Given the description of an element on the screen output the (x, y) to click on. 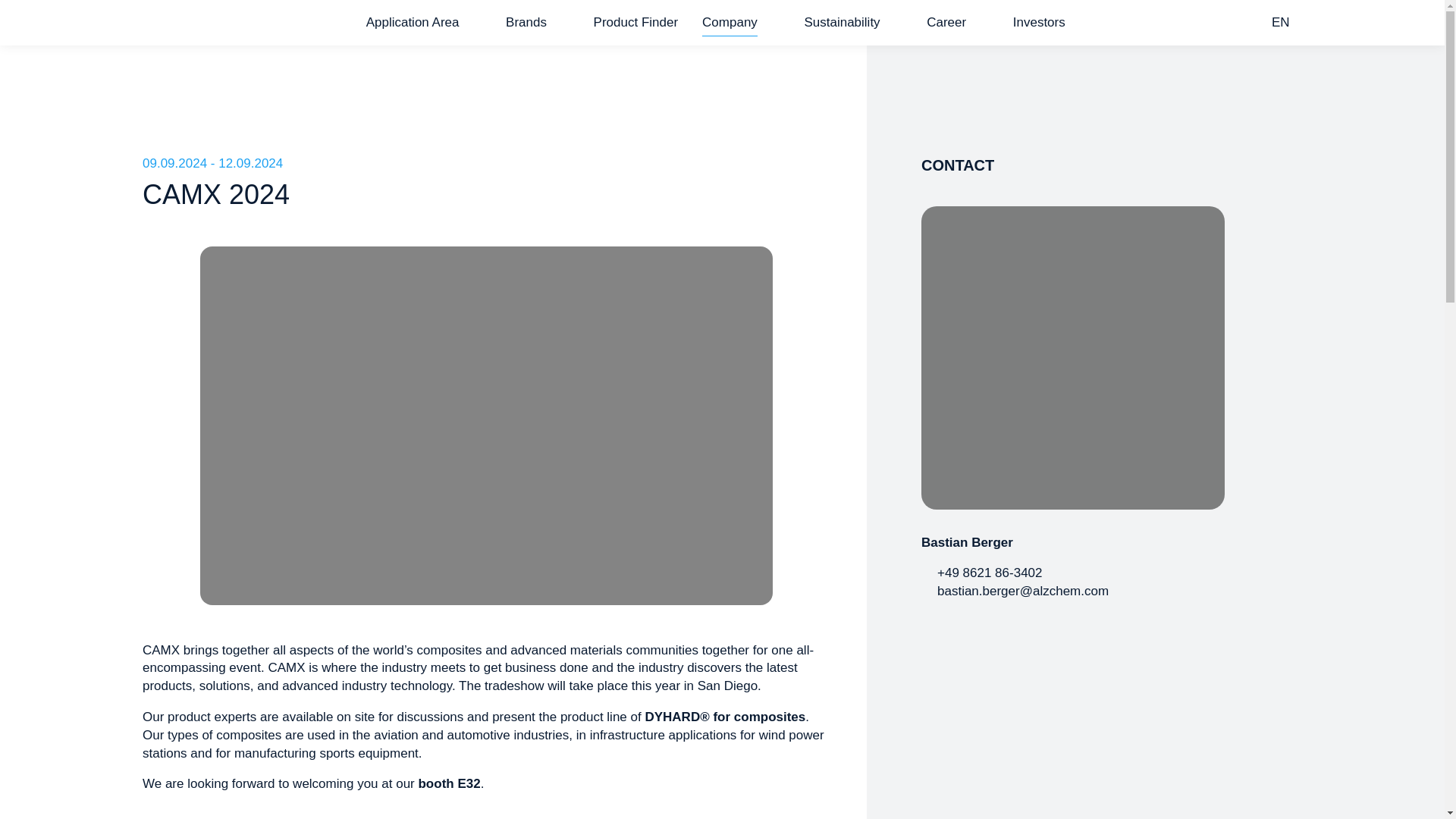
Active language English (1287, 22)
Application Area (413, 22)
Brands (526, 22)
